Given the description of an element on the screen output the (x, y) to click on. 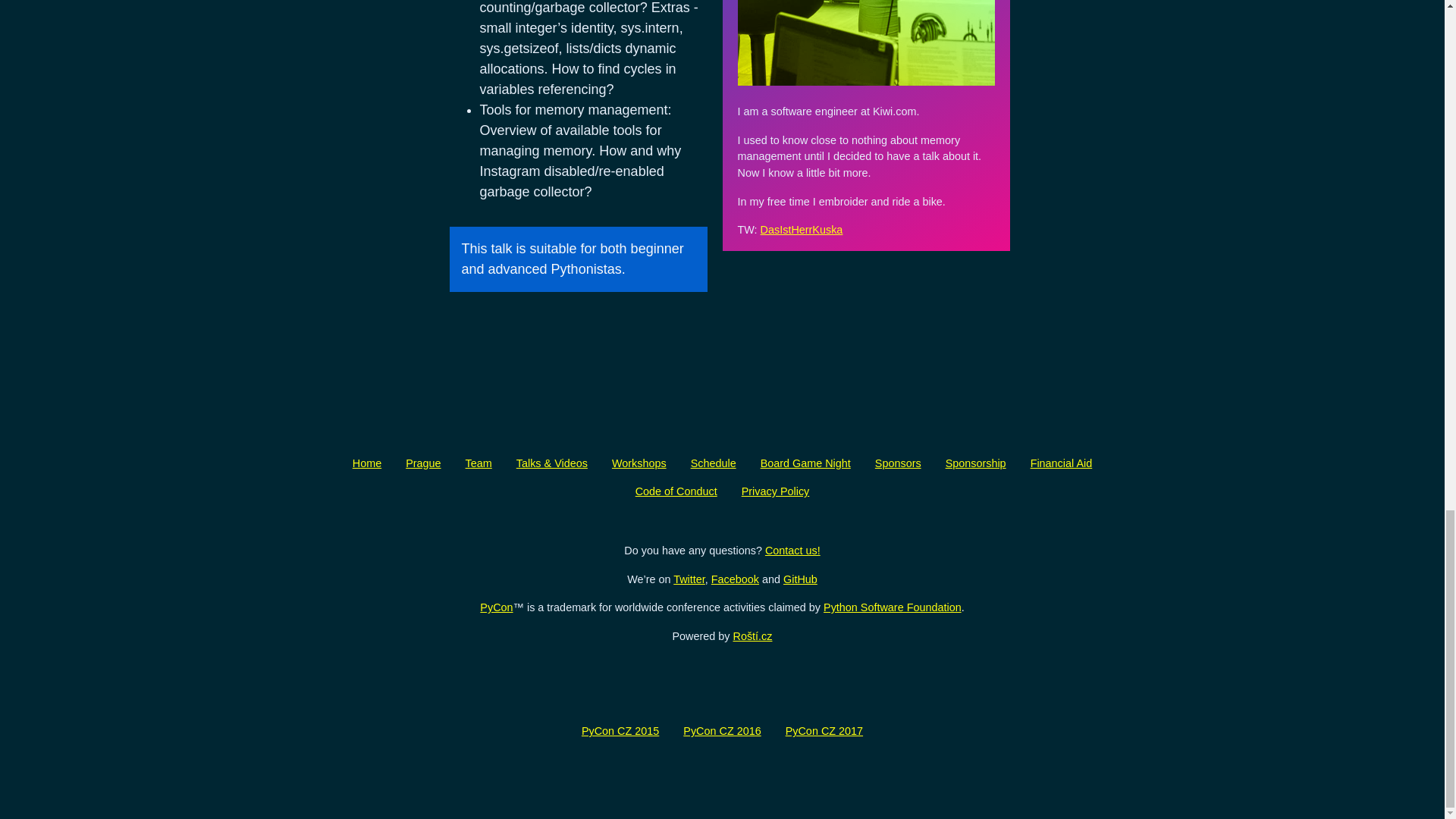
Board Game Night (805, 463)
Schedule (713, 463)
Team (477, 463)
Python Software Foundation (892, 607)
Sponsorship (975, 463)
PyCon (496, 607)
Workshops (638, 463)
DasIstHerrKuska (801, 229)
Code of Conduct (676, 491)
PyCon CZ 2016 (722, 731)
